Given the description of an element on the screen output the (x, y) to click on. 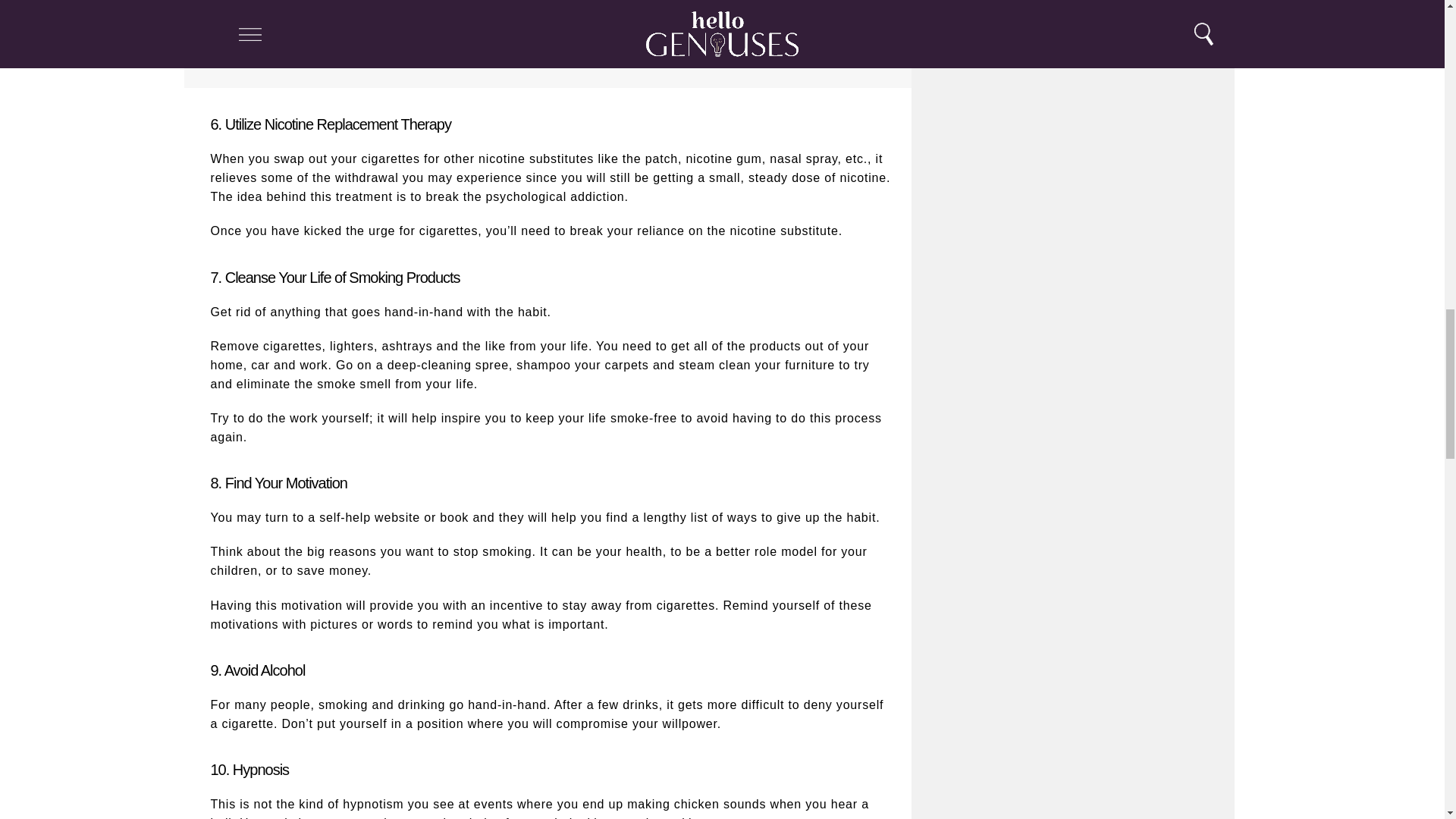
How To Quit Smoking (375, 6)
Vaping Vs Smoking (727, 6)
Acupuncture Benefits (727, 36)
Nicotine Replacement Therapy (375, 36)
